Given the description of an element on the screen output the (x, y) to click on. 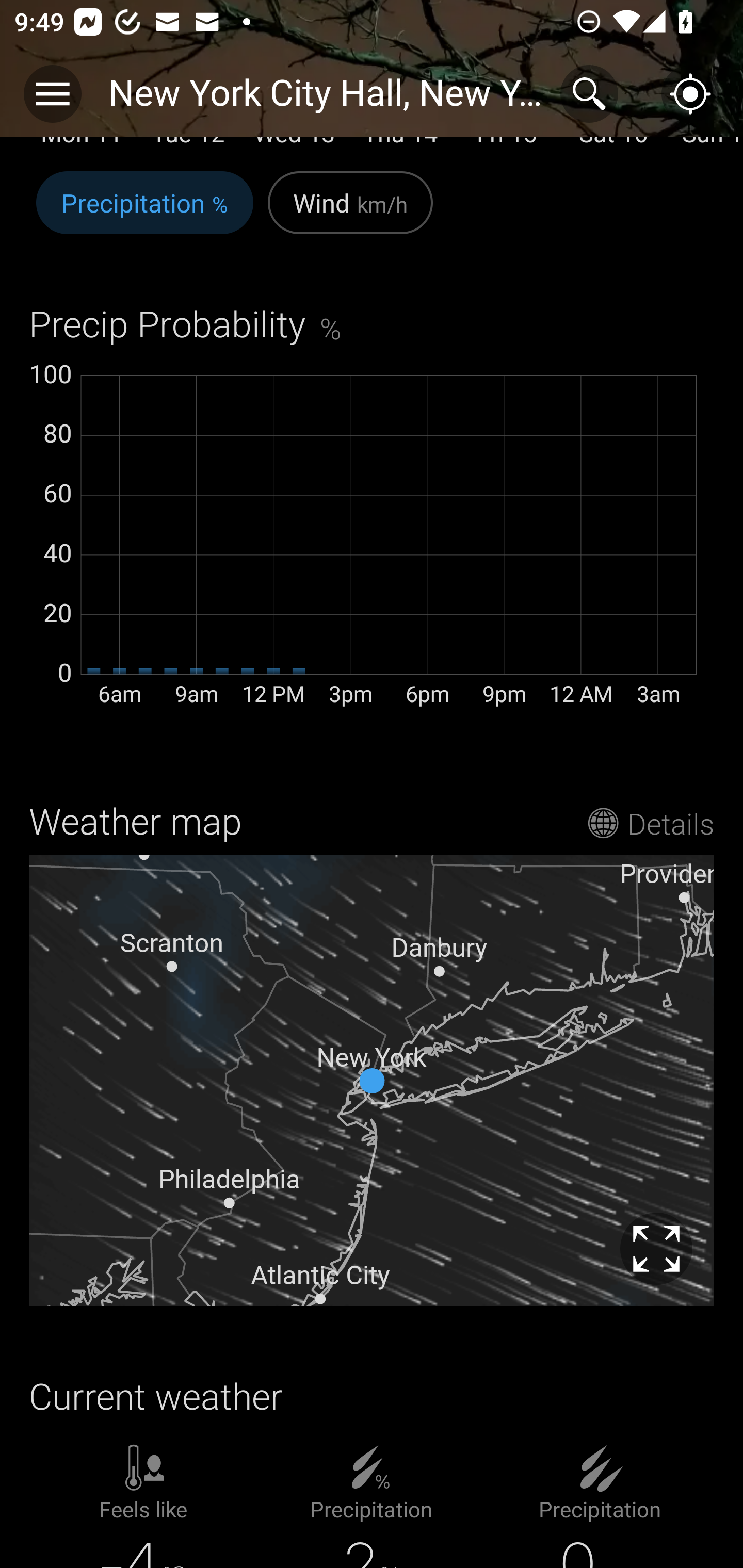
Precipitation % (144, 213)
Wind km/h (349, 213)
